Given the description of an element on the screen output the (x, y) to click on. 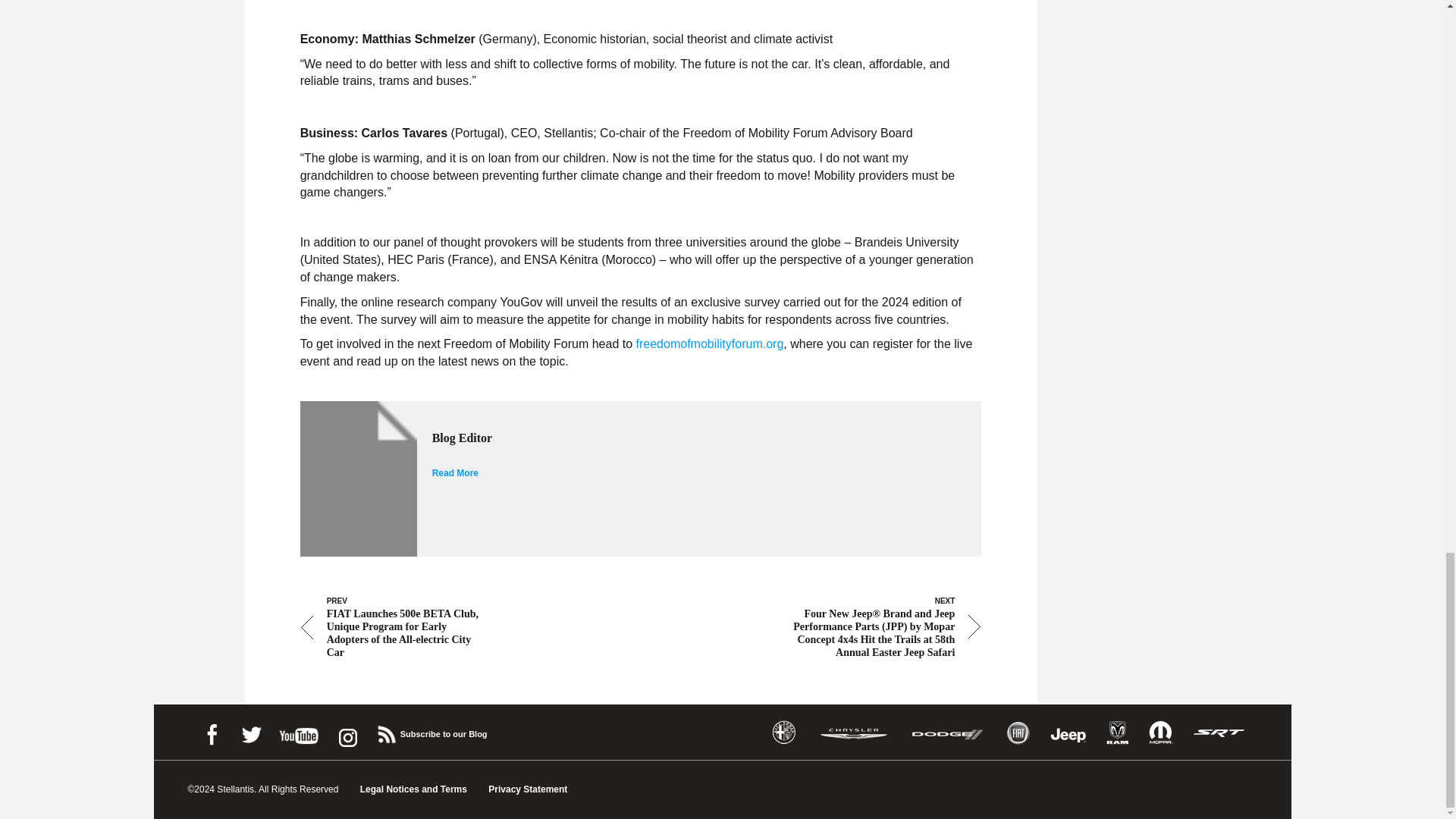
Read More (455, 472)
Blog Editor (682, 438)
freedomofmobilityforum.org (710, 343)
